Given the description of an element on the screen output the (x, y) to click on. 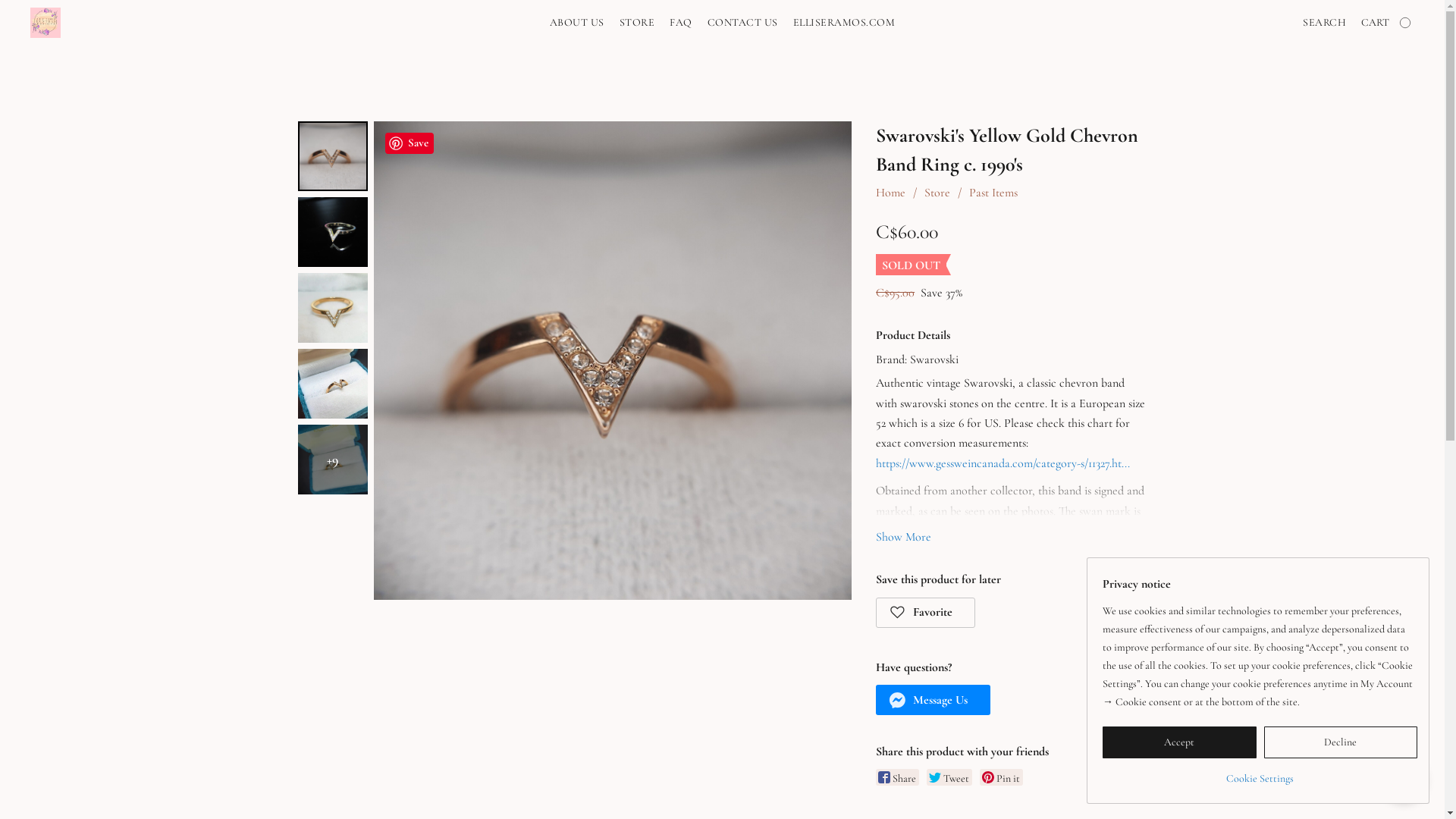
CART Element type: text (1387, 22)
STORE Element type: text (636, 22)
Tweet Element type: text (949, 776)
Past Items Element type: text (993, 192)
Store Element type: text (937, 192)
Swarovski's Yellow Gold Chevron Band Ring c. 1990's Element type: hover (612, 360)
ELLISERAMOS.COM Element type: text (840, 22)
Cookie Settings Element type: text (1259, 772)
Decline Element type: text (1340, 742)
Save Element type: text (409, 142)
CONTACT US Element type: text (742, 22)
SEARCH Element type: text (1324, 22)
Home Element type: text (890, 192)
FAQ Element type: text (680, 22)
Share Element type: text (897, 776)
Show More Element type: text (903, 536)
Message Us Element type: text (932, 699)
ABOUT US Element type: text (580, 22)
Accept Element type: text (1179, 742)
Favorite Element type: text (925, 612)
https://www.gessweincanada.com/category-s/11327.ht... Element type: text (1002, 462)
Pin it Element type: text (1000, 776)
